Given the description of an element on the screen output the (x, y) to click on. 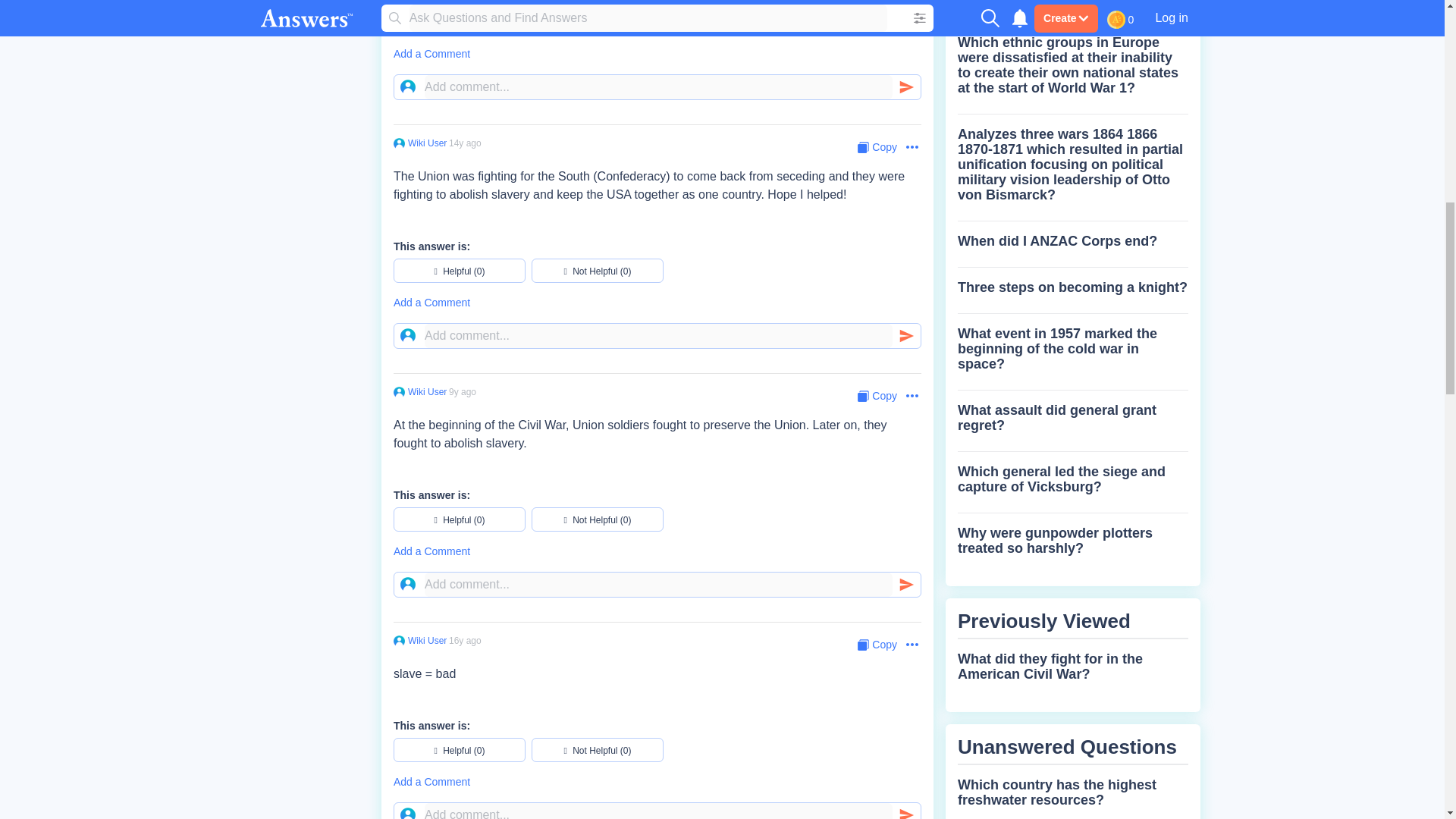
2010-05-14 01:45:43 (464, 143)
2014-08-21 15:44:11 (462, 391)
2008-03-19 04:32:58 (464, 640)
